Given the description of an element on the screen output the (x, y) to click on. 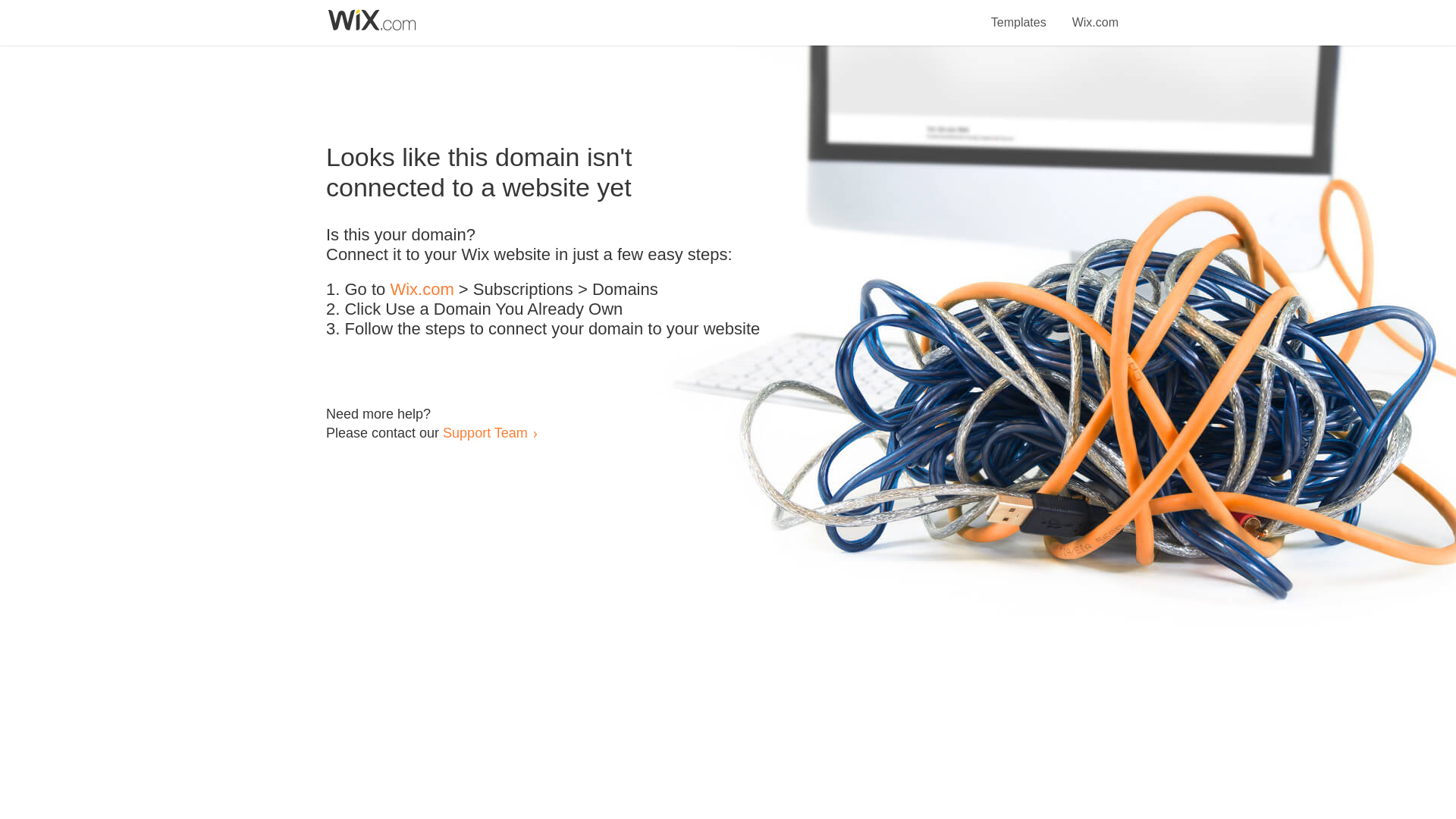
Wix.com (1095, 14)
Wix.com (421, 289)
Support Team (484, 432)
Templates (1018, 14)
